Given the description of an element on the screen output the (x, y) to click on. 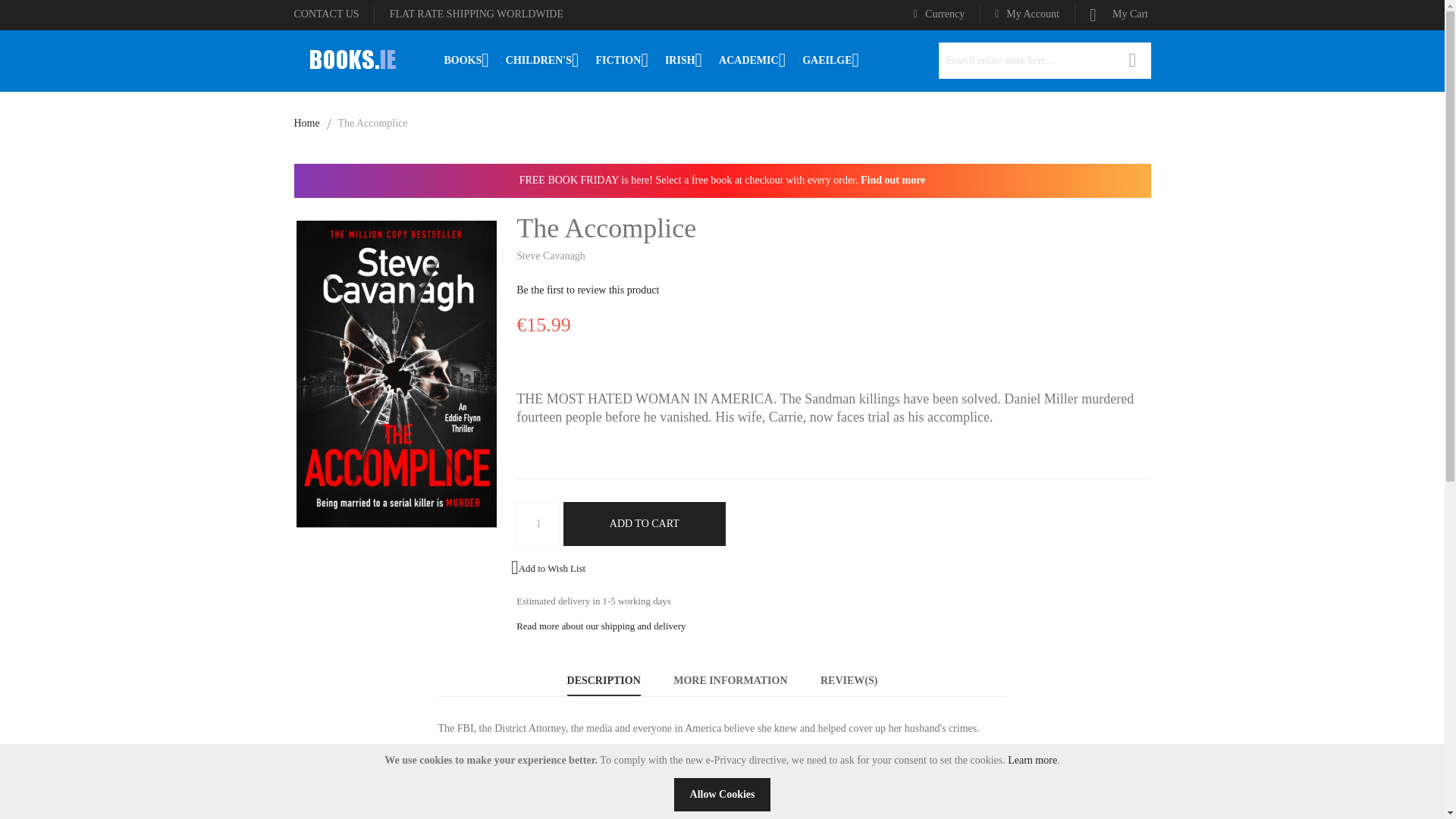
Qty (538, 524)
FLAT RATE SHIPPING WORLDWIDE (476, 13)
Add to Cart (644, 524)
Search (1133, 60)
BOOKS.IE (351, 59)
Learn more (1032, 759)
My Cart (1120, 14)
CONTACT US (326, 13)
Go to Home Page (307, 122)
1 (538, 524)
BOOKS (465, 60)
Allow Cookies (722, 794)
